Given the description of an element on the screen output the (x, y) to click on. 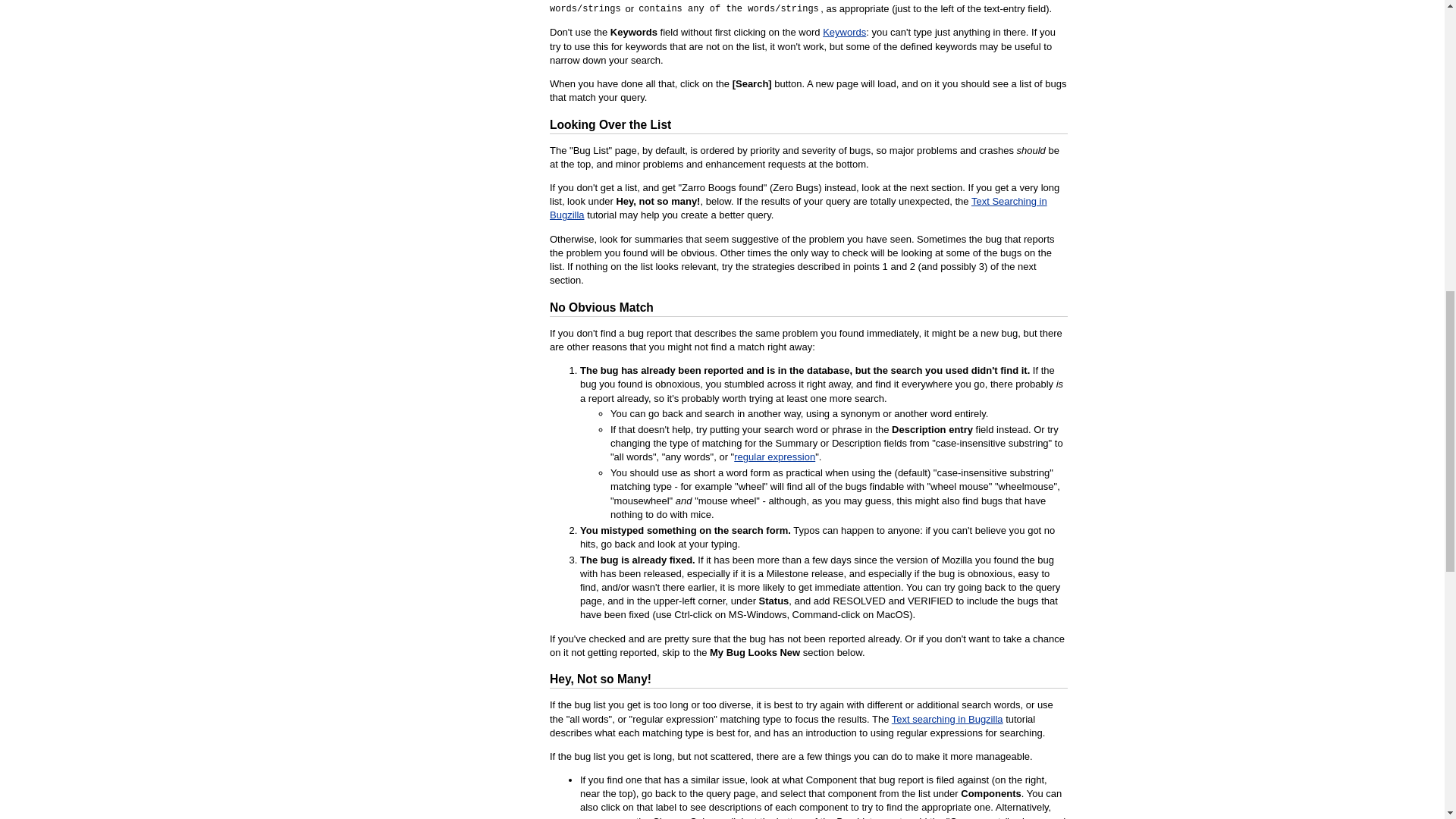
regular expression (774, 456)
Text Searching in Bugzilla (798, 207)
Keywords (844, 31)
Text searching in Bugzilla (947, 717)
